Given the description of an element on the screen output the (x, y) to click on. 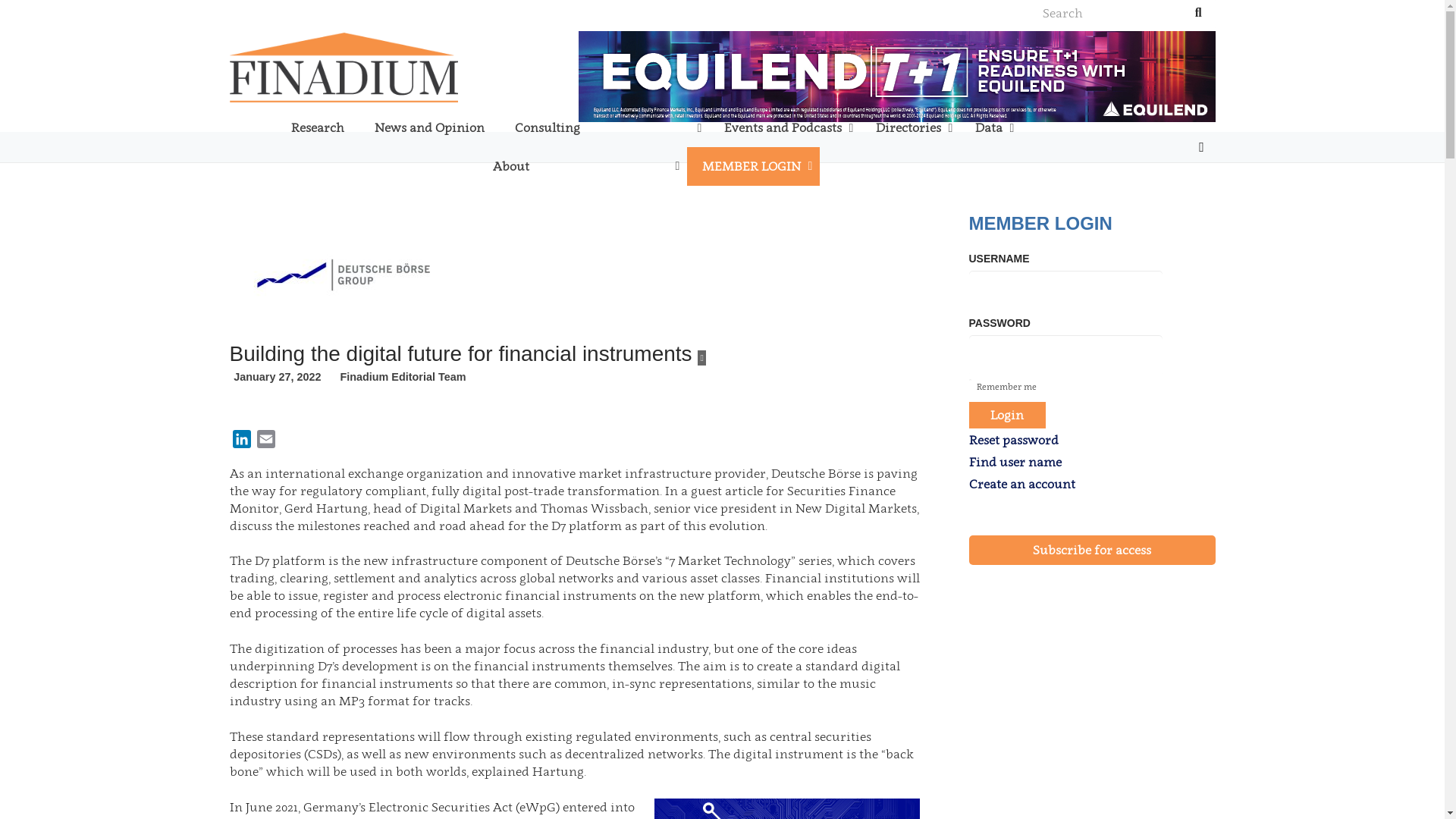
About (582, 166)
Data (990, 127)
Finadium Editorial Team (402, 376)
News and Opinion (429, 127)
Email (265, 440)
LinkedIn (240, 440)
Login (865, 442)
Login (1007, 415)
LinkedIn (1201, 146)
Directories (909, 127)
Consulting (604, 127)
Research (317, 127)
Events and Podcasts (784, 127)
